Given the description of an element on the screen output the (x, y) to click on. 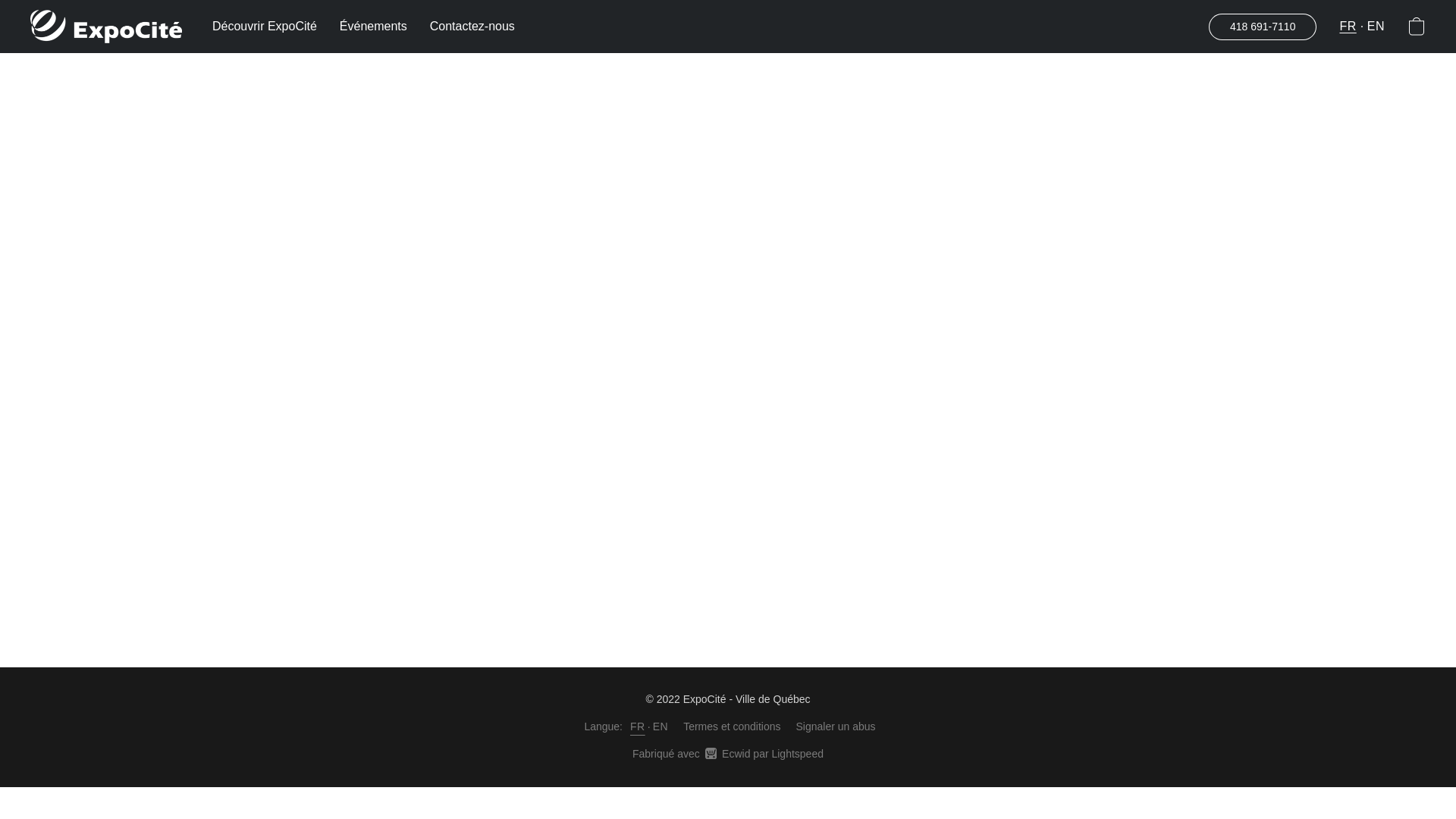
Signaler un abus (836, 726)
Aller au panier (1416, 26)
Termes et conditions (731, 726)
418 691-7110 (1262, 26)
Contactez-nous (467, 26)
